Given the description of an element on the screen output the (x, y) to click on. 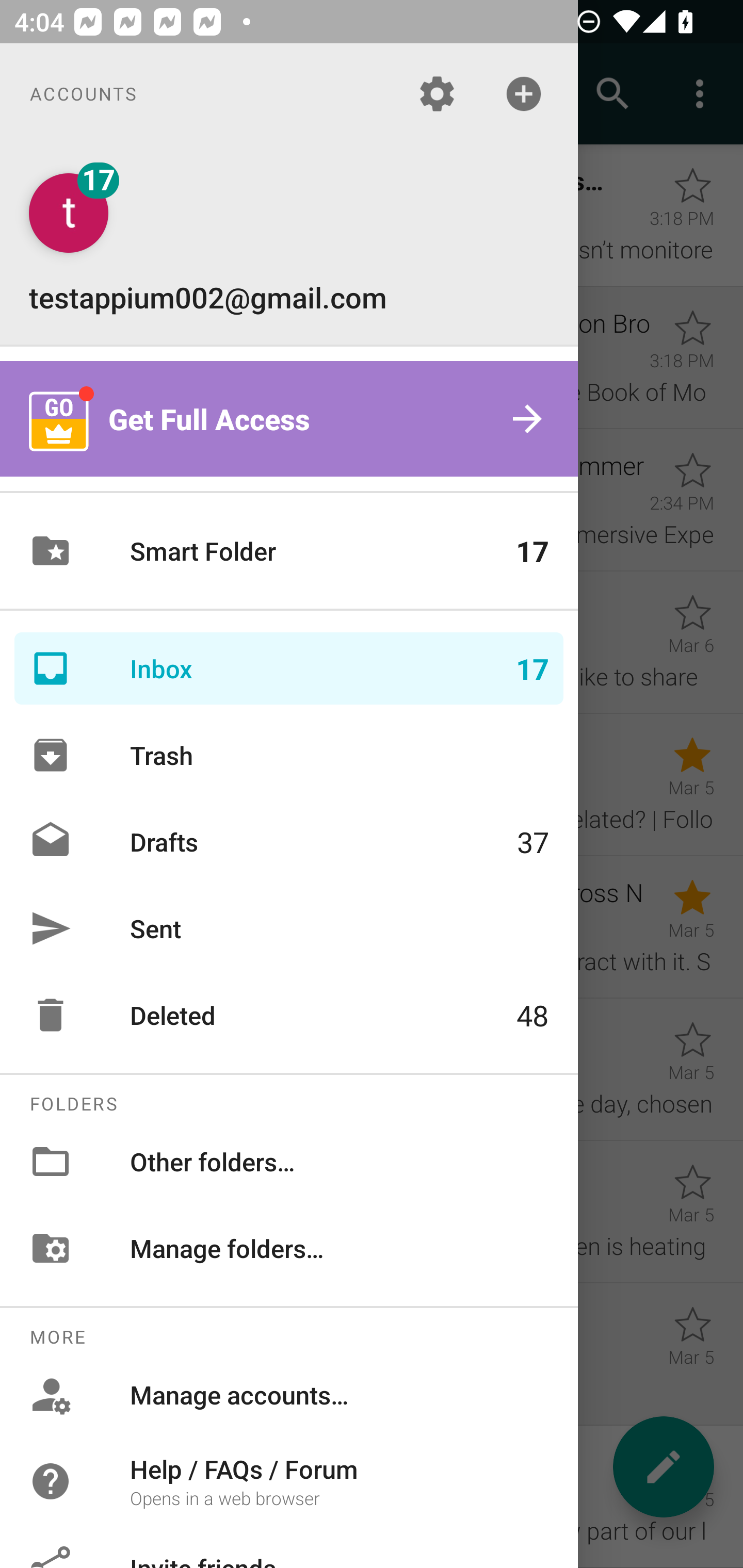
testappium002@gmail.com (289, 244)
Get Full Access (289, 418)
Smart Folder 17 (289, 551)
Inbox 17 (289, 668)
Trash (289, 754)
Drafts 37 (289, 841)
Sent (289, 928)
Deleted 48 (289, 1015)
Other folders… (289, 1160)
Manage folders… (289, 1248)
Manage accounts… (289, 1394)
Help / FAQs / Forum Opens in a web browser (289, 1480)
